Given the description of an element on the screen output the (x, y) to click on. 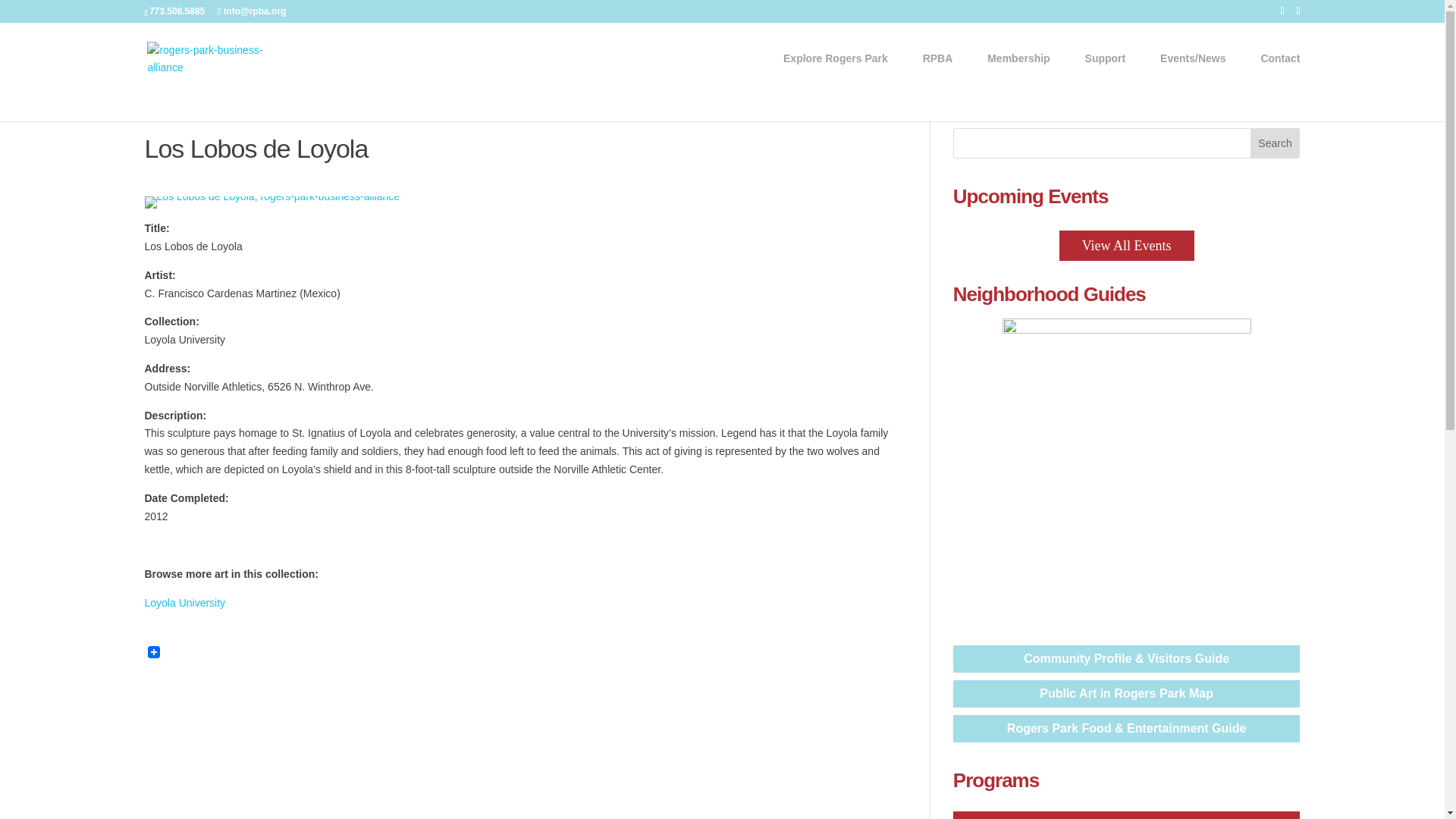
RPBA (945, 60)
Explore Rogers Park (842, 60)
Search (1275, 142)
